Given the description of an element on the screen output the (x, y) to click on. 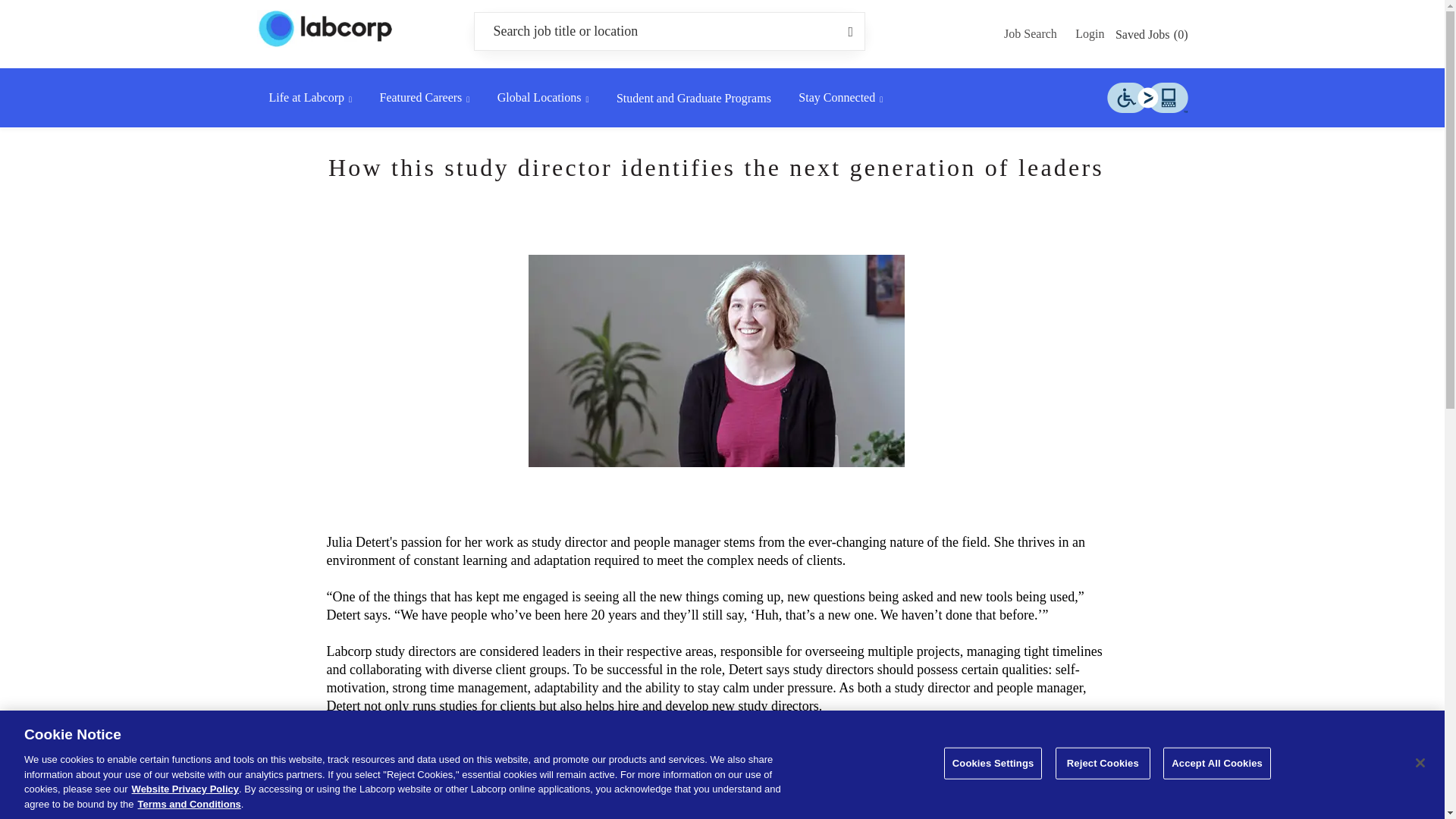
Featured Careers (423, 98)
Stay Connected (839, 98)
Life at Labcorp (309, 98)
Global Locations (543, 98)
Login (1089, 33)
Job Search (1029, 33)
Student and Graduate Programs (693, 98)
